Given the description of an element on the screen output the (x, y) to click on. 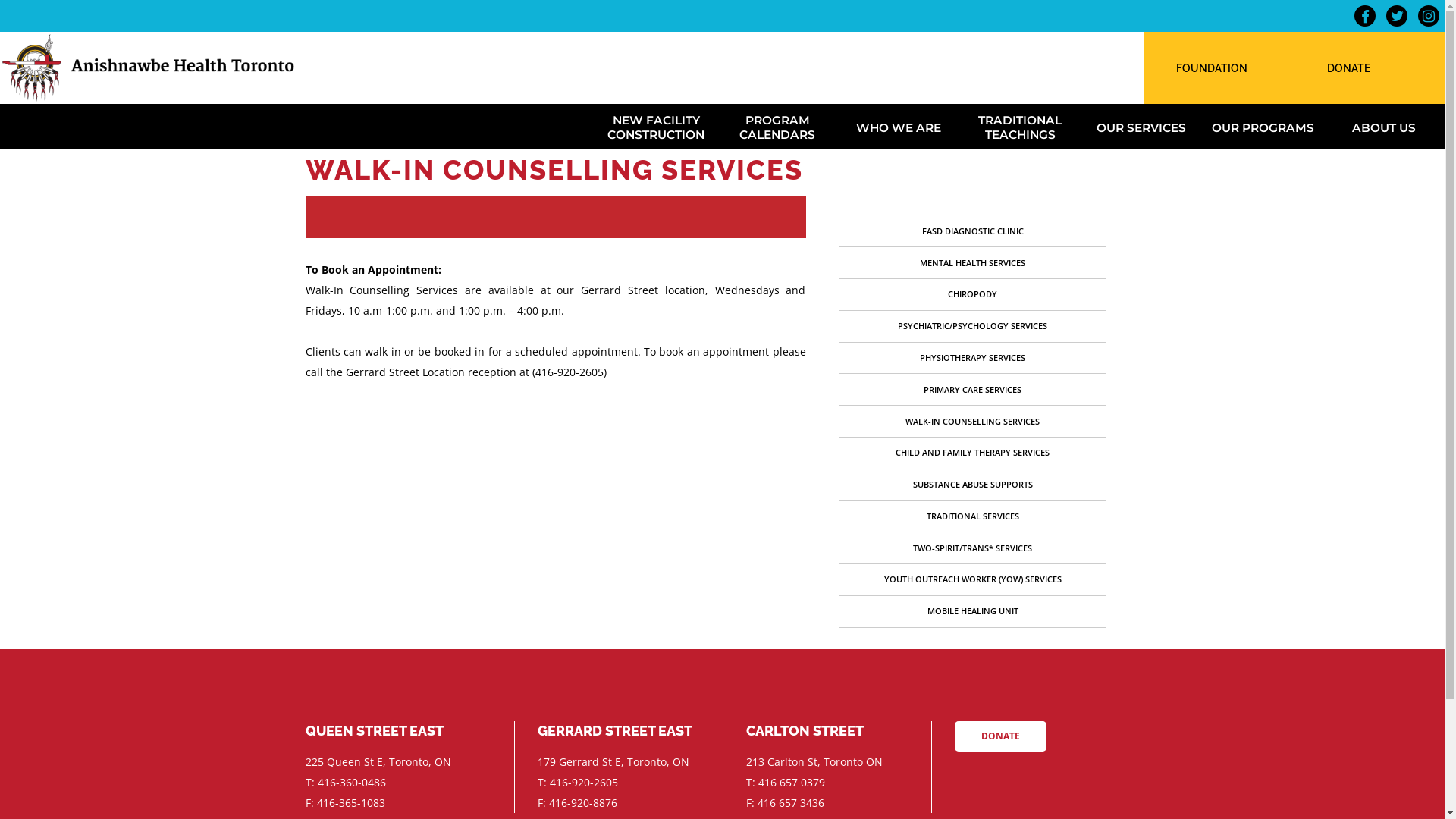
PHYSIOTHERAPY SERVICES Element type: text (972, 357)
OUR PROGRAMS Element type: text (1262, 126)
OUR SERVICES Element type: text (1141, 126)
DONATE Element type: text (999, 736)
TRADITIONAL SERVICES Element type: text (972, 515)
MENTAL HEALTH SERVICES Element type: text (972, 262)
CHIROPODY Element type: text (972, 293)
TRADITIONAL TEACHINGS Element type: text (1019, 126)
SUBSTANCE ABUSE SUPPORTS Element type: text (972, 483)
ABOUT US Element type: text (1383, 126)
FOUNDATION Element type: text (1211, 69)
NEW FACILITY CONSTRUCTION Element type: text (655, 126)
CHILD AND FAMILY THERAPY SERVICES Element type: text (972, 452)
WHO WE ARE Element type: text (898, 126)
TWO-SPIRIT/TRANS* SERVICES Element type: text (972, 547)
MOBILE HEALING UNIT Element type: text (971, 610)
PRIMARY CARE SERVICES Element type: text (972, 389)
DONATE Element type: text (1347, 69)
PSYCHIATRIC/PSYCHOLOGY SERVICES Element type: text (972, 325)
YOUTH OUTREACH WORKER (YOW) SERVICES Element type: text (972, 578)
PROGRAM CALENDARS Element type: text (776, 126)
FASD DIAGNOSTIC CLINIC Element type: text (972, 230)
